Given the description of an element on the screen output the (x, y) to click on. 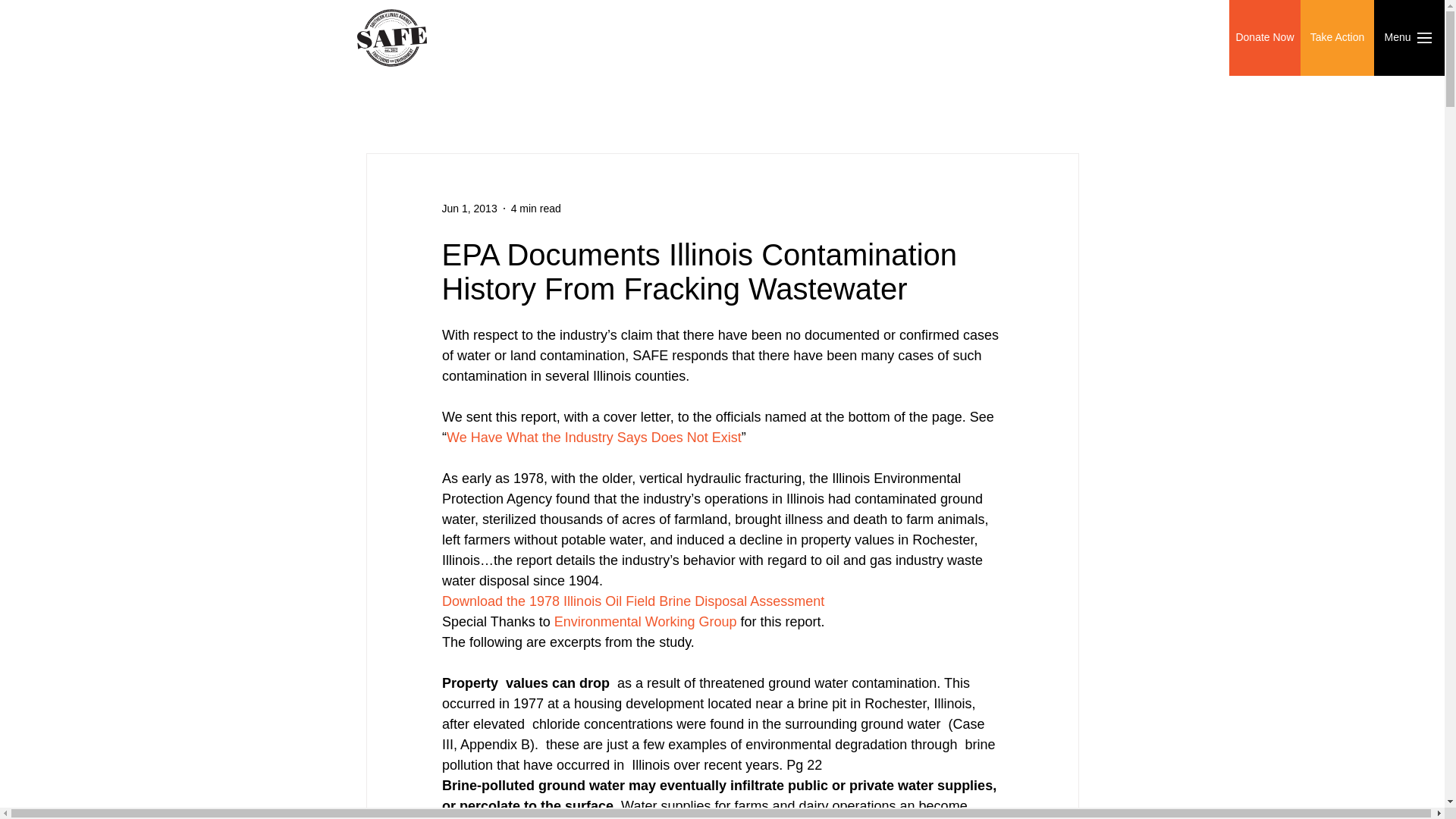
4 min read (535, 207)
Jun 1, 2013 (468, 207)
Donate Now (1264, 38)
Take Action (1337, 38)
 Environmental Working Group (643, 621)
We Have What the Industry Says Does Not Exist (593, 437)
